Given the description of an element on the screen output the (x, y) to click on. 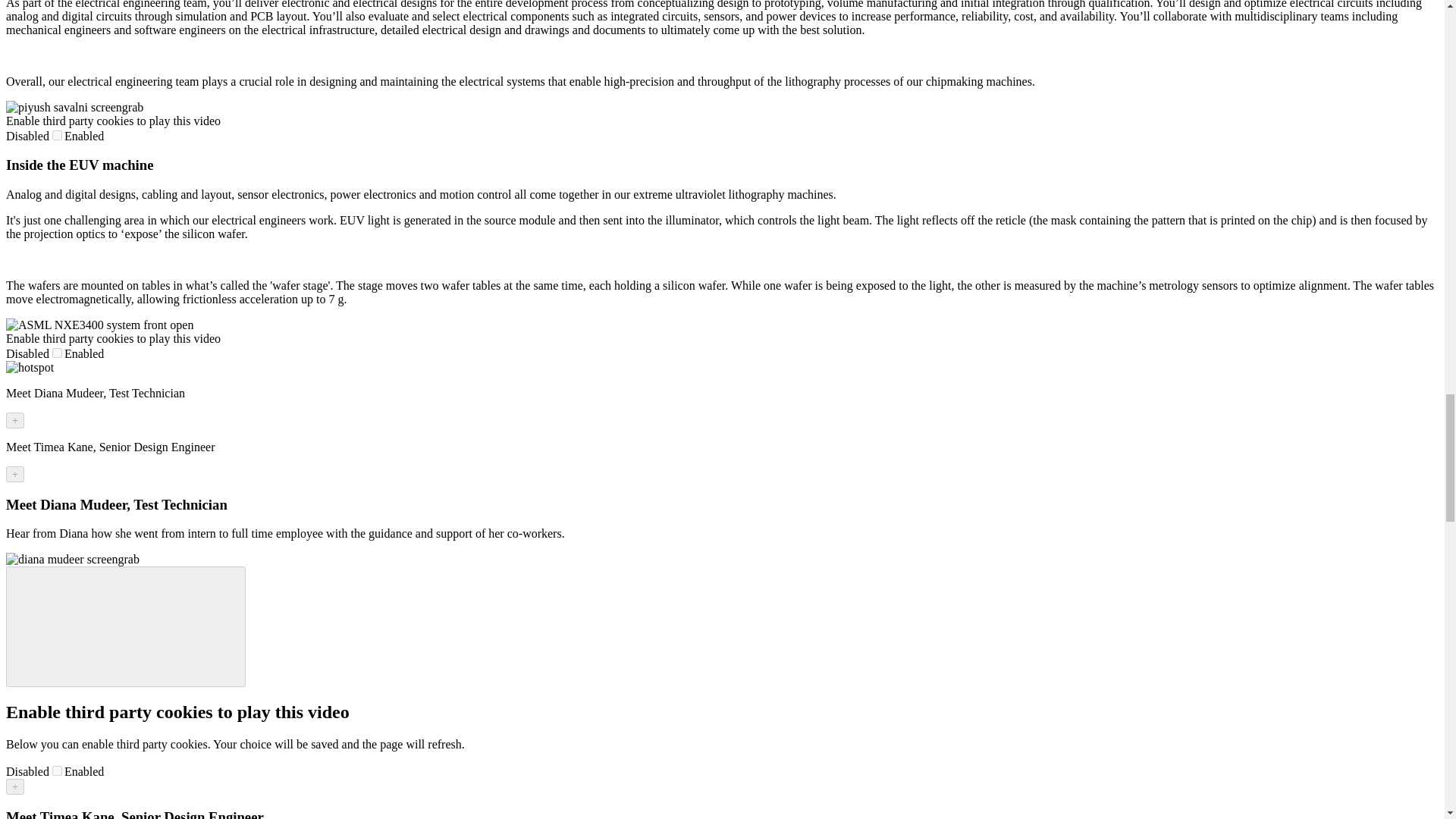
on (57, 770)
on (57, 352)
on (57, 135)
